Given the description of an element on the screen output the (x, y) to click on. 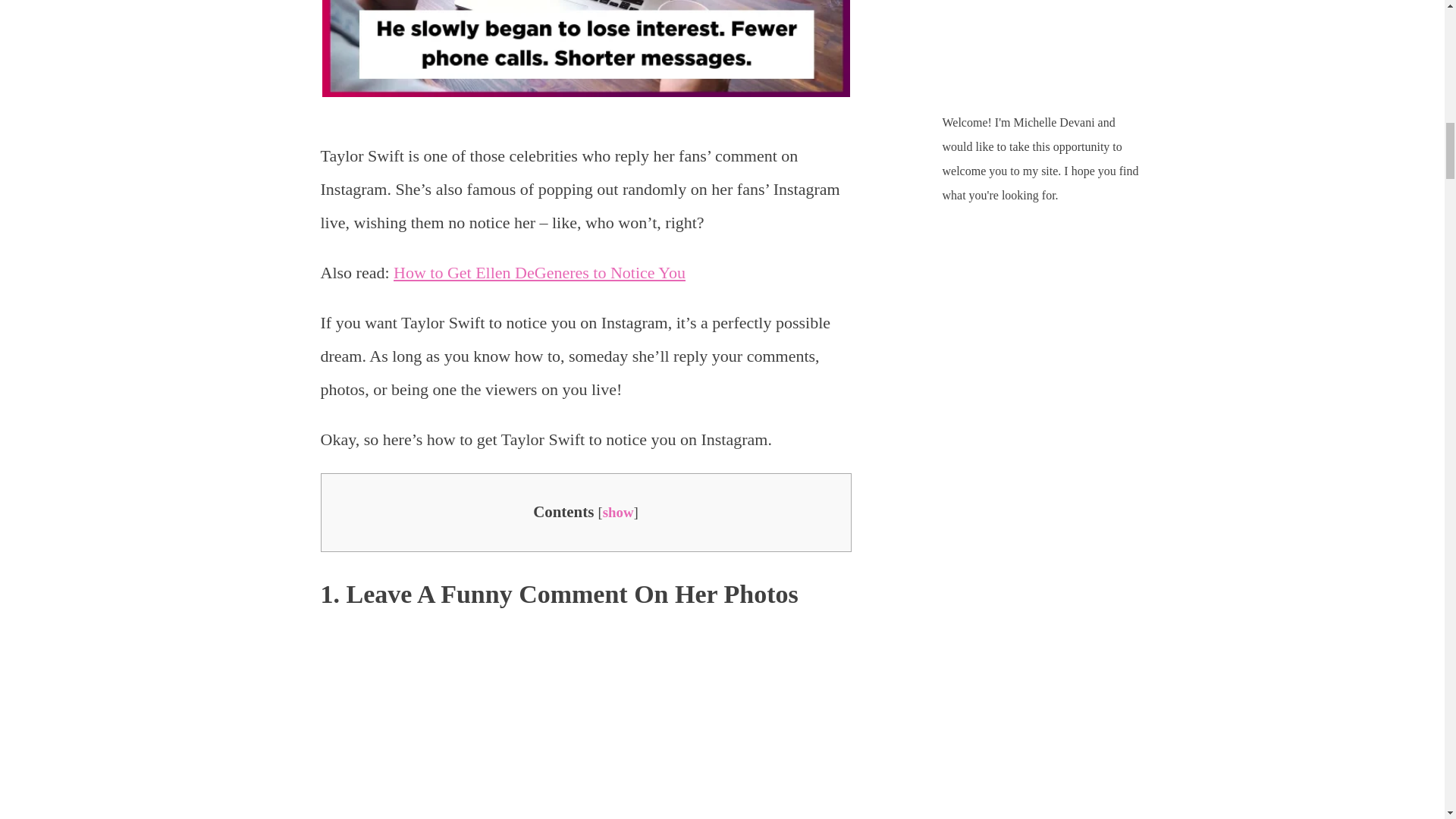
How to Get Ellen DeGeneres to Notice You (539, 271)
show (617, 512)
